Given the description of an element on the screen output the (x, y) to click on. 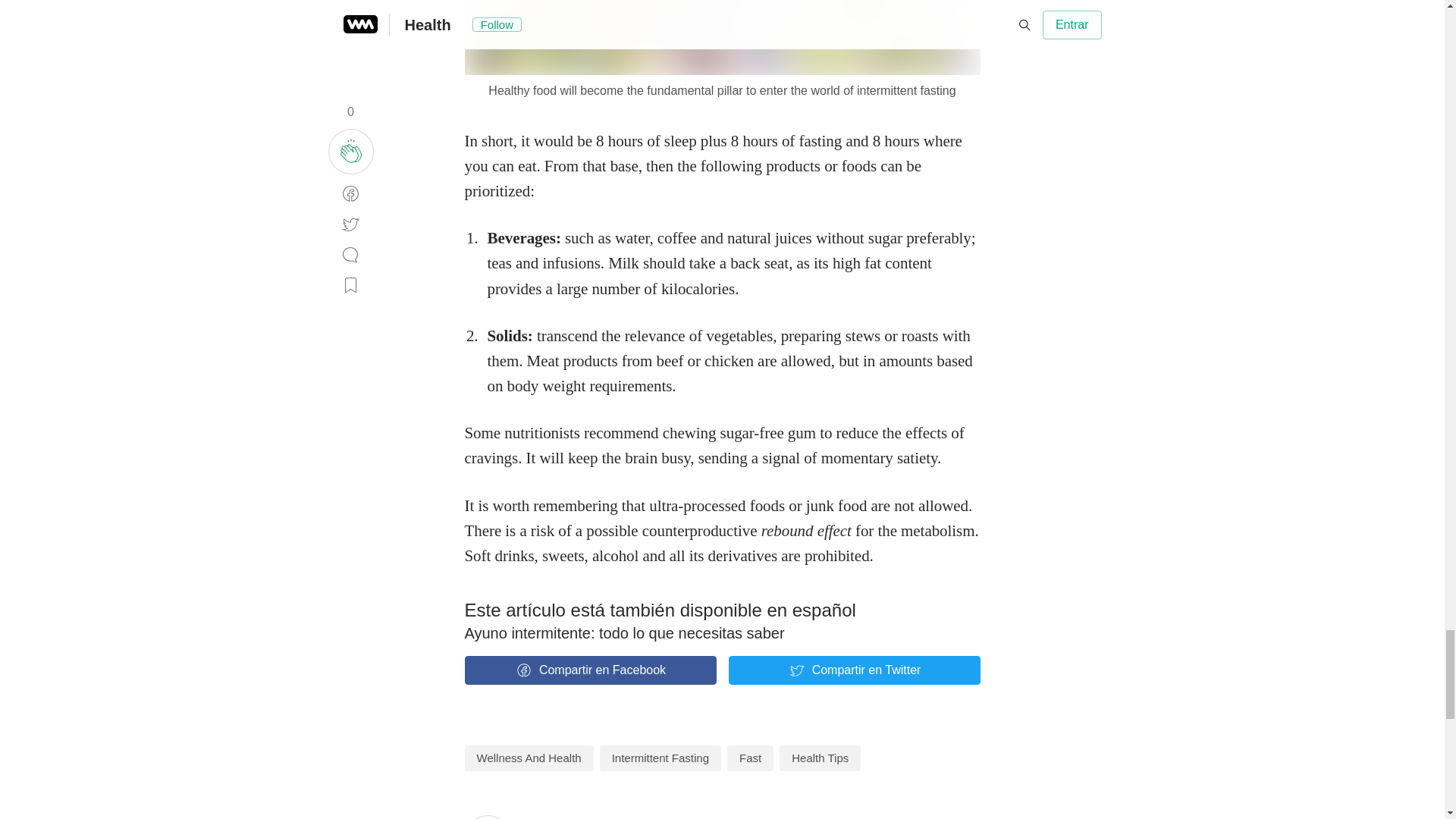
Health Tips (819, 758)
Compartir en Facebook (590, 670)
Fast (749, 758)
Intermittent Fasting (659, 758)
Wellness And Health (528, 758)
Ayuno intermitente: todo lo que necesitas saber (624, 632)
Compartir en Twitter (853, 670)
